Given the description of an element on the screen output the (x, y) to click on. 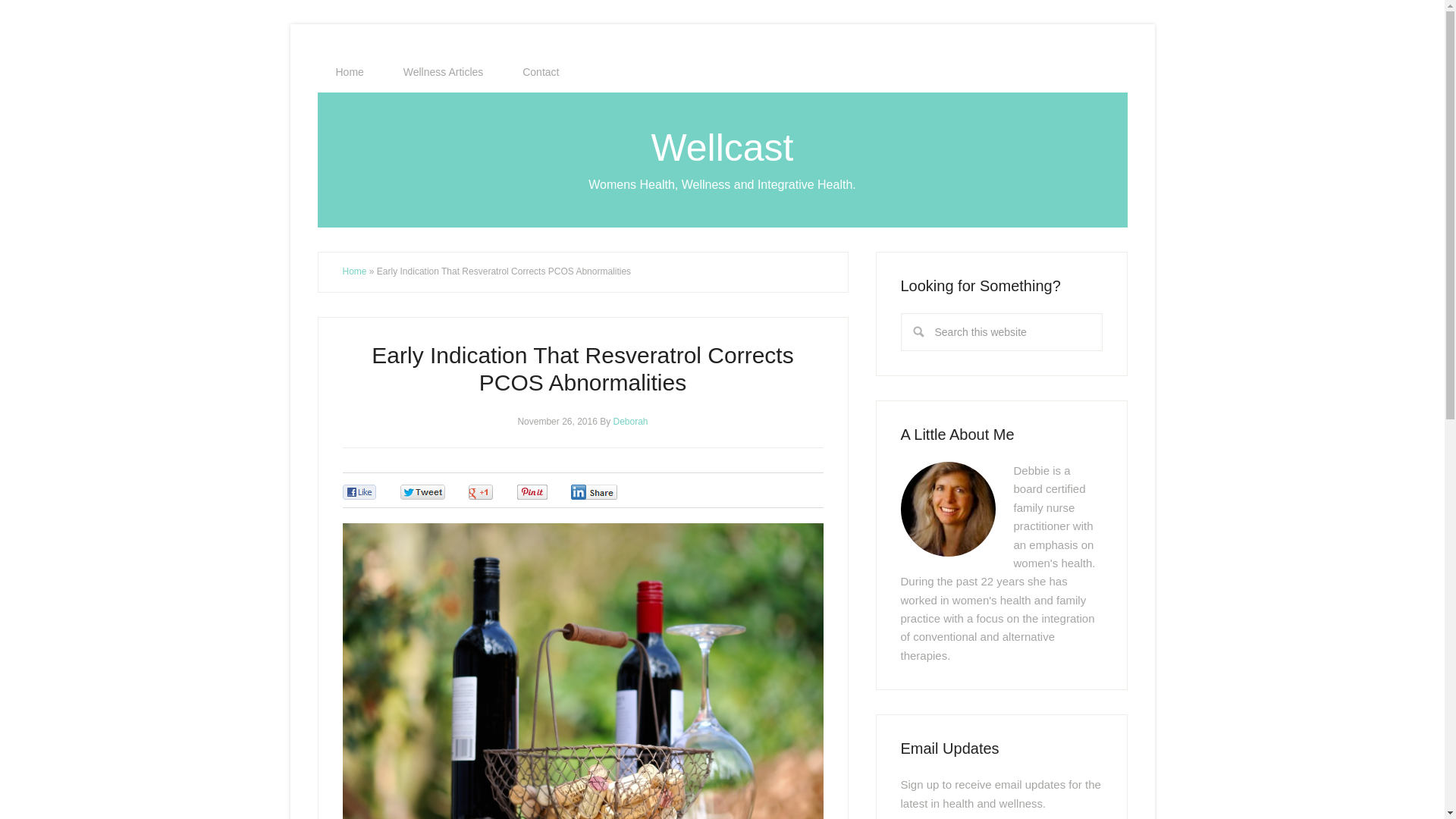
Be the first one to tweet this article! (438, 492)
Wellness Articles (443, 71)
Home (354, 271)
Deborah (629, 420)
Wellcast (721, 147)
Home (349, 71)
Contact (539, 71)
